Given the description of an element on the screen output the (x, y) to click on. 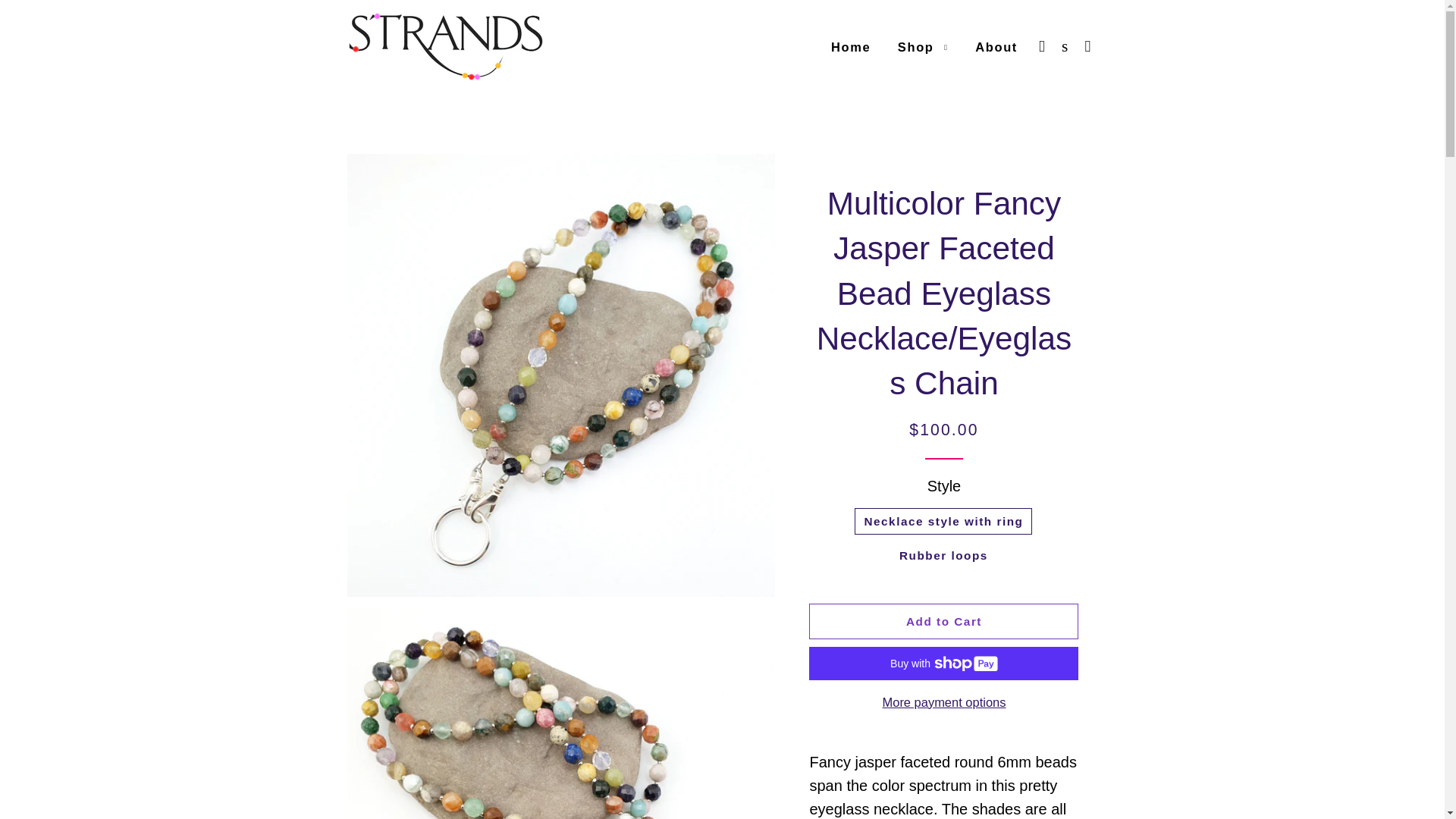
Shop (922, 47)
Home (850, 47)
More payment options (943, 702)
About (996, 47)
Add to Cart (943, 621)
